Given the description of an element on the screen output the (x, y) to click on. 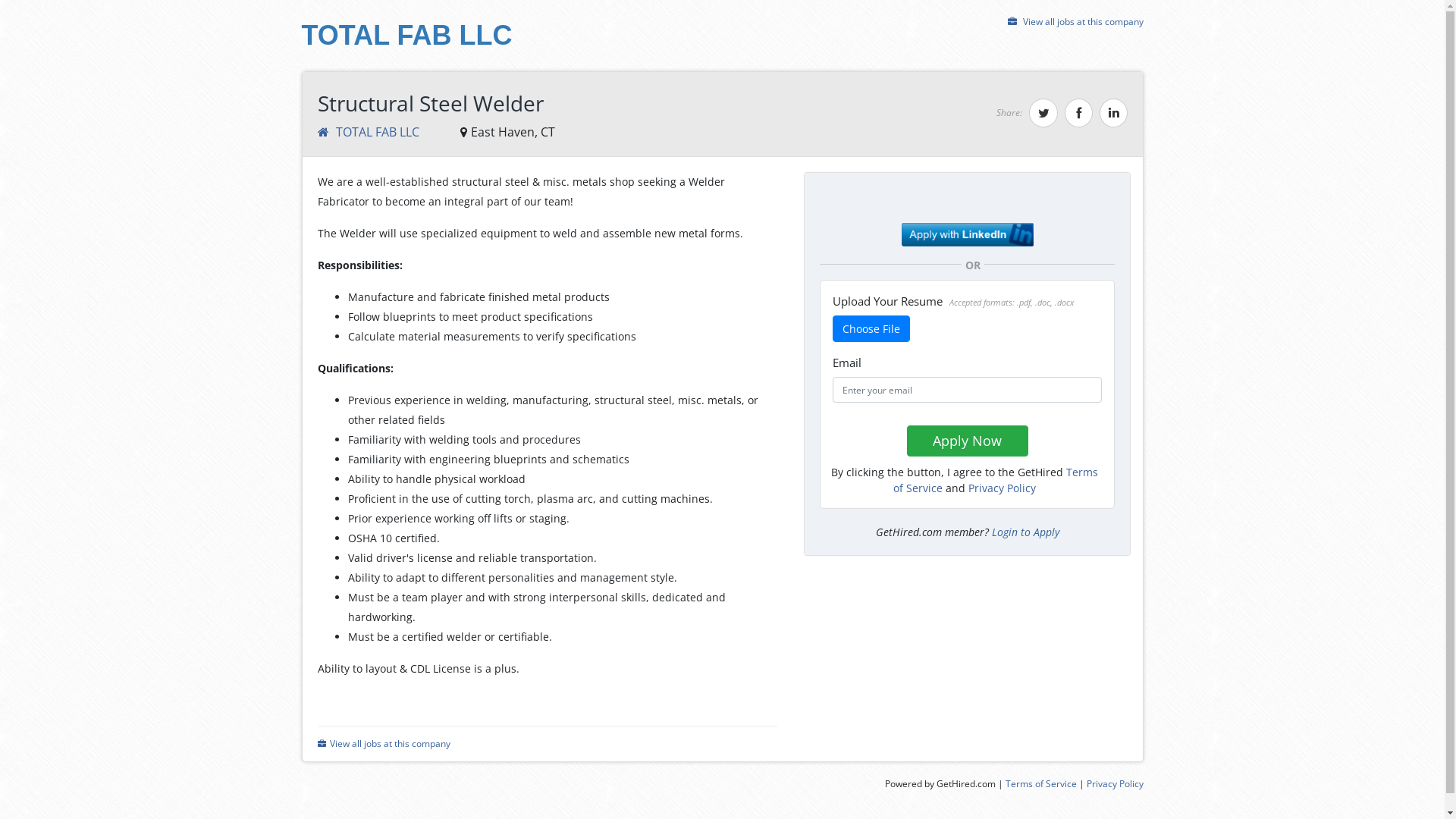
Apply Now Element type: text (967, 440)
Choose File Element type: text (871, 328)
Terms of Service Element type: text (995, 479)
Privacy Policy Element type: text (1113, 783)
View all jobs at this company Element type: text (1074, 21)
TOTAL FAB LLC Element type: text (406, 40)
View all jobs at this company Element type: text (382, 743)
Terms of Service Element type: text (1040, 783)
TOTAL FAB LLC Element type: text (368, 131)
Privacy Policy Element type: text (1001, 487)
Login to Apply Element type: text (1025, 531)
